Given the description of an element on the screen output the (x, y) to click on. 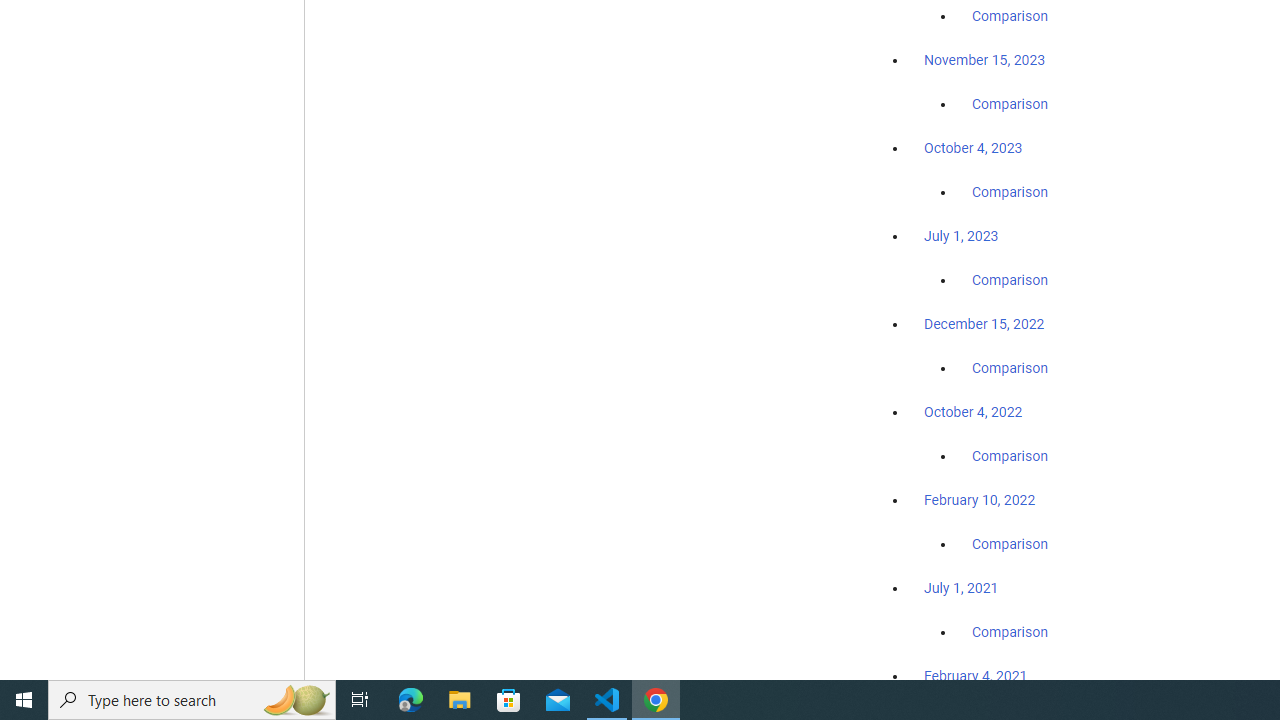
October 4, 2022 (973, 412)
July 1, 2023 (961, 236)
November 15, 2023 (984, 60)
October 4, 2023 (973, 148)
February 10, 2022 (979, 500)
December 15, 2022 (984, 323)
July 1, 2021 (961, 587)
February 4, 2021 (975, 675)
Comparison (1009, 631)
